Given the description of an element on the screen output the (x, y) to click on. 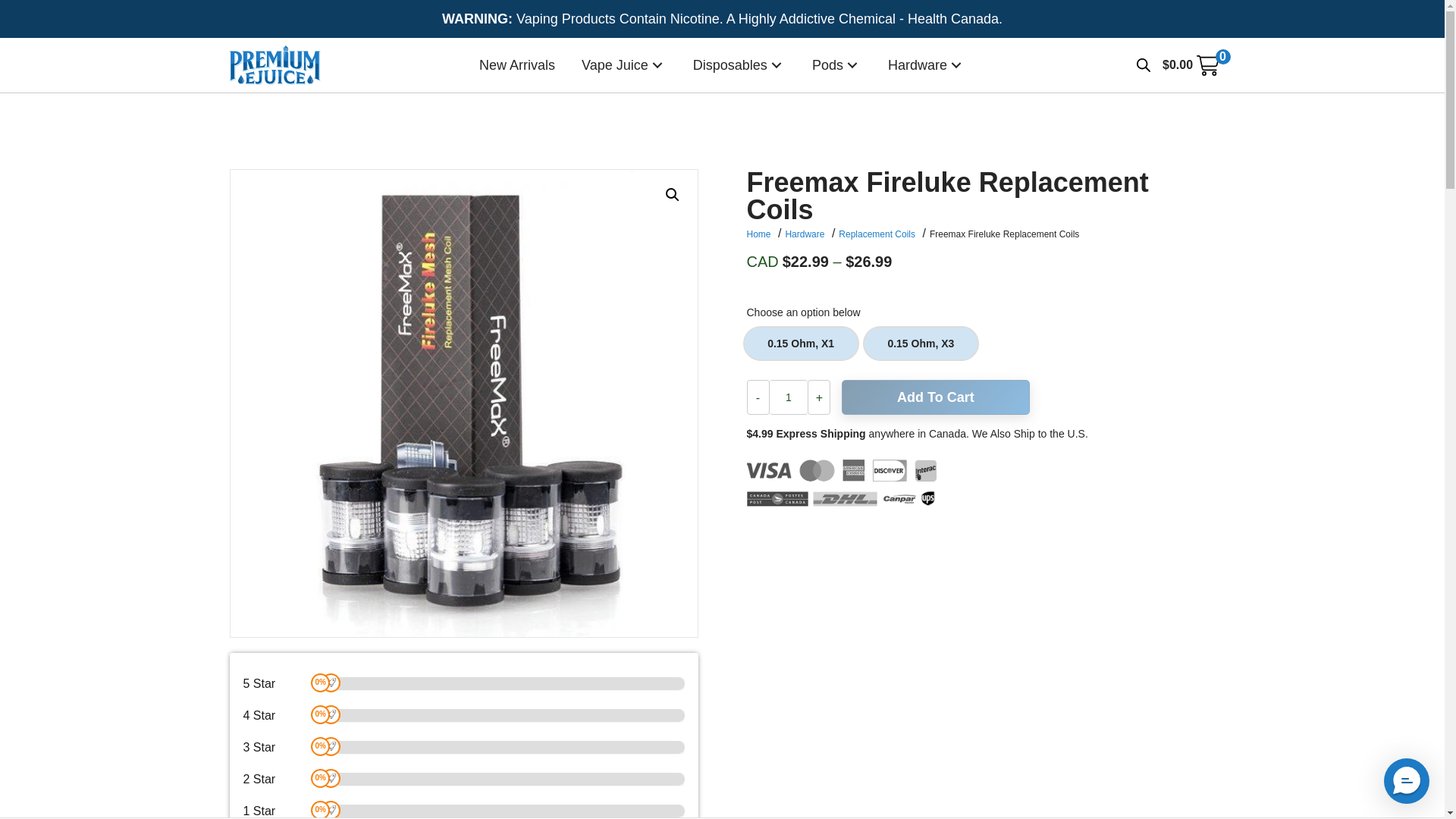
Premium eJuice Logo (274, 64)
1 (788, 397)
eJuice (623, 64)
